Given the description of an element on the screen output the (x, y) to click on. 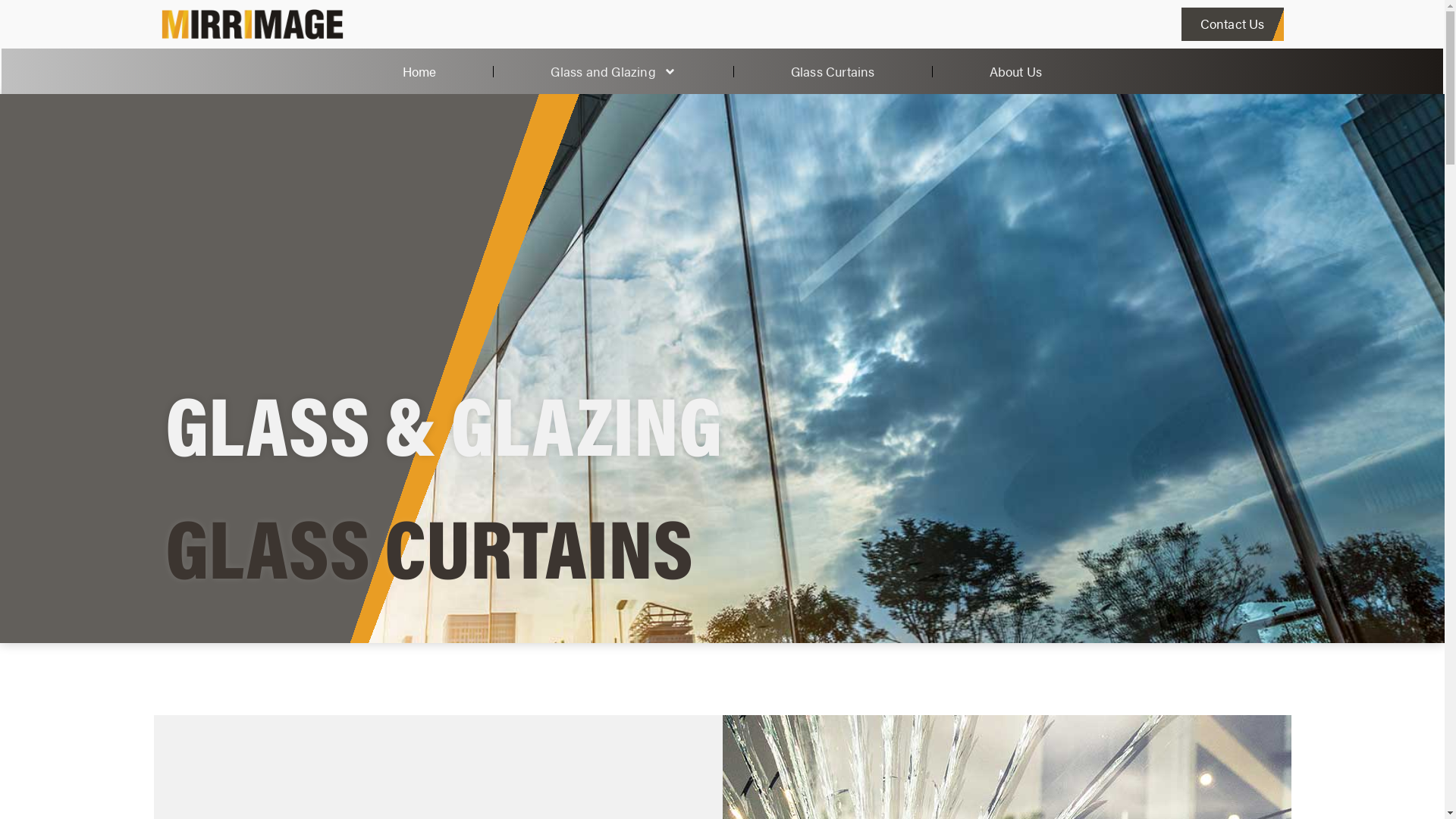
Home Element type: text (419, 70)
Glass Curtains Element type: text (833, 70)
About Us Element type: text (1015, 70)
Contact Us Element type: text (1232, 23)
Glass and Glazing Element type: text (612, 70)
